Given the description of an element on the screen output the (x, y) to click on. 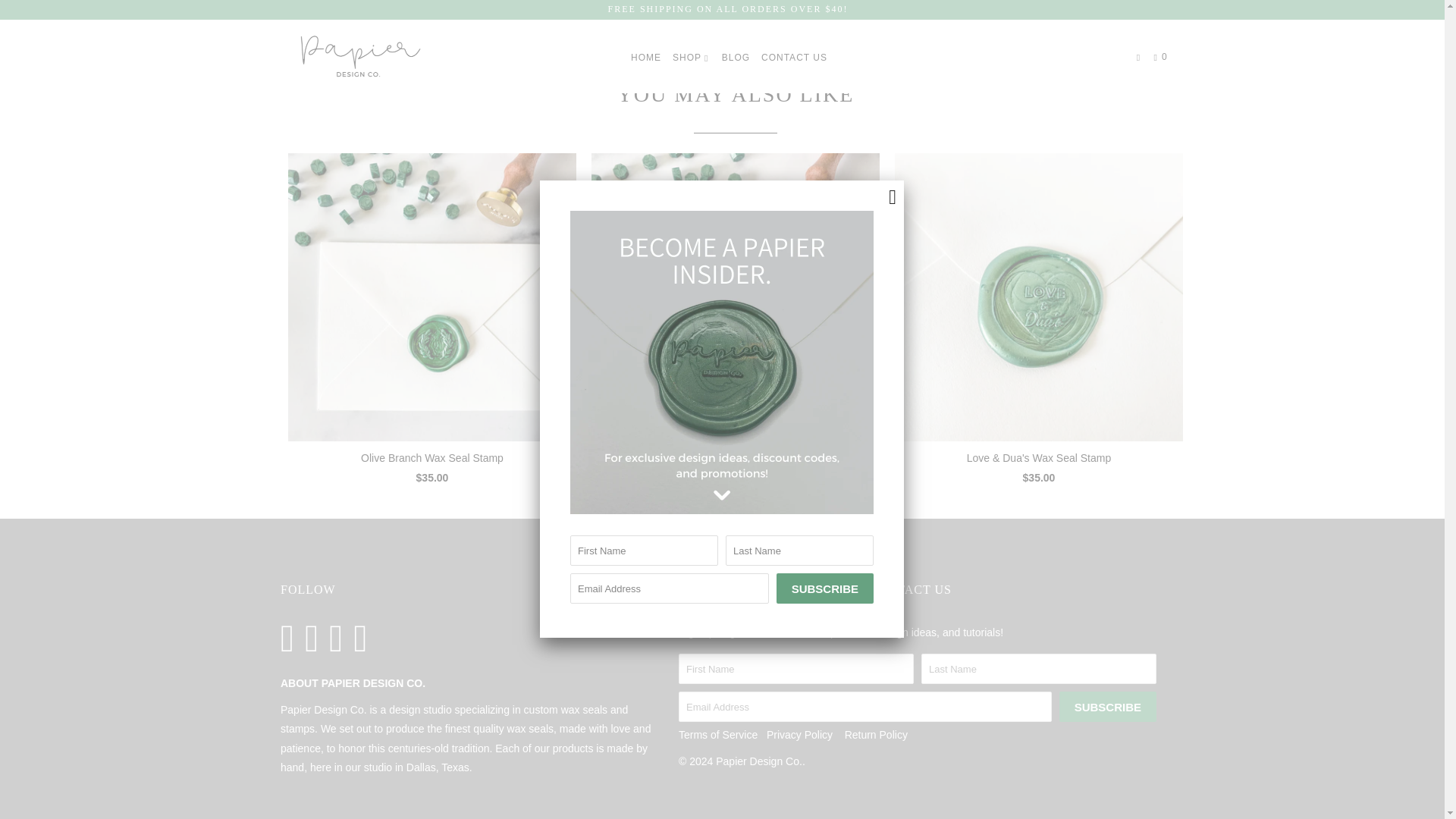
Subscribe (824, 2)
